Given the description of an element on the screen output the (x, y) to click on. 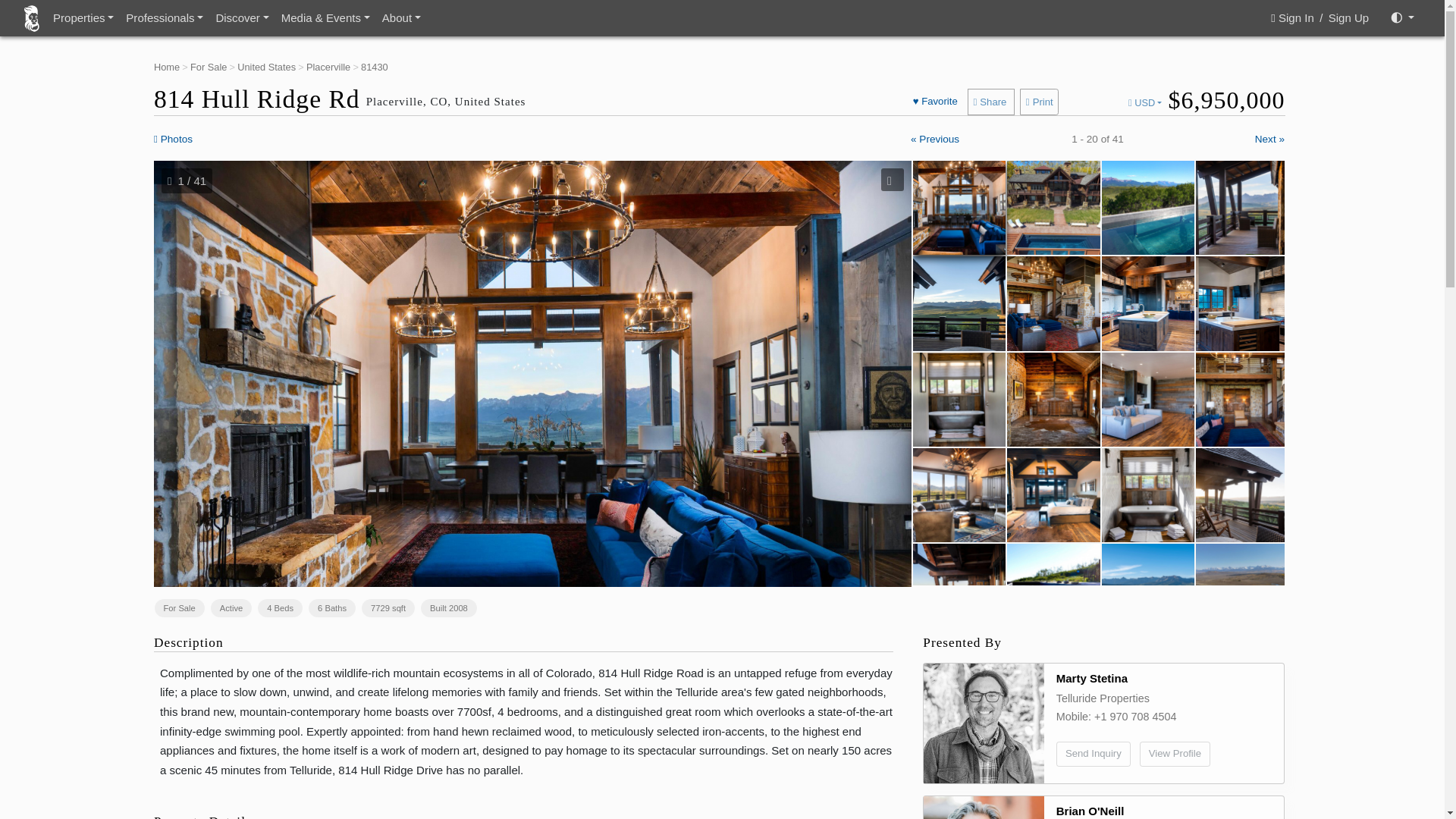
translation missing: en.property.home (166, 66)
For Sale (208, 66)
Properties (82, 18)
About (400, 18)
Home (166, 66)
United States (266, 66)
Professionals (164, 18)
Sign In (1294, 17)
Discover (242, 18)
Placerville (327, 66)
Sign Up (1348, 17)
